Given the description of an element on the screen output the (x, y) to click on. 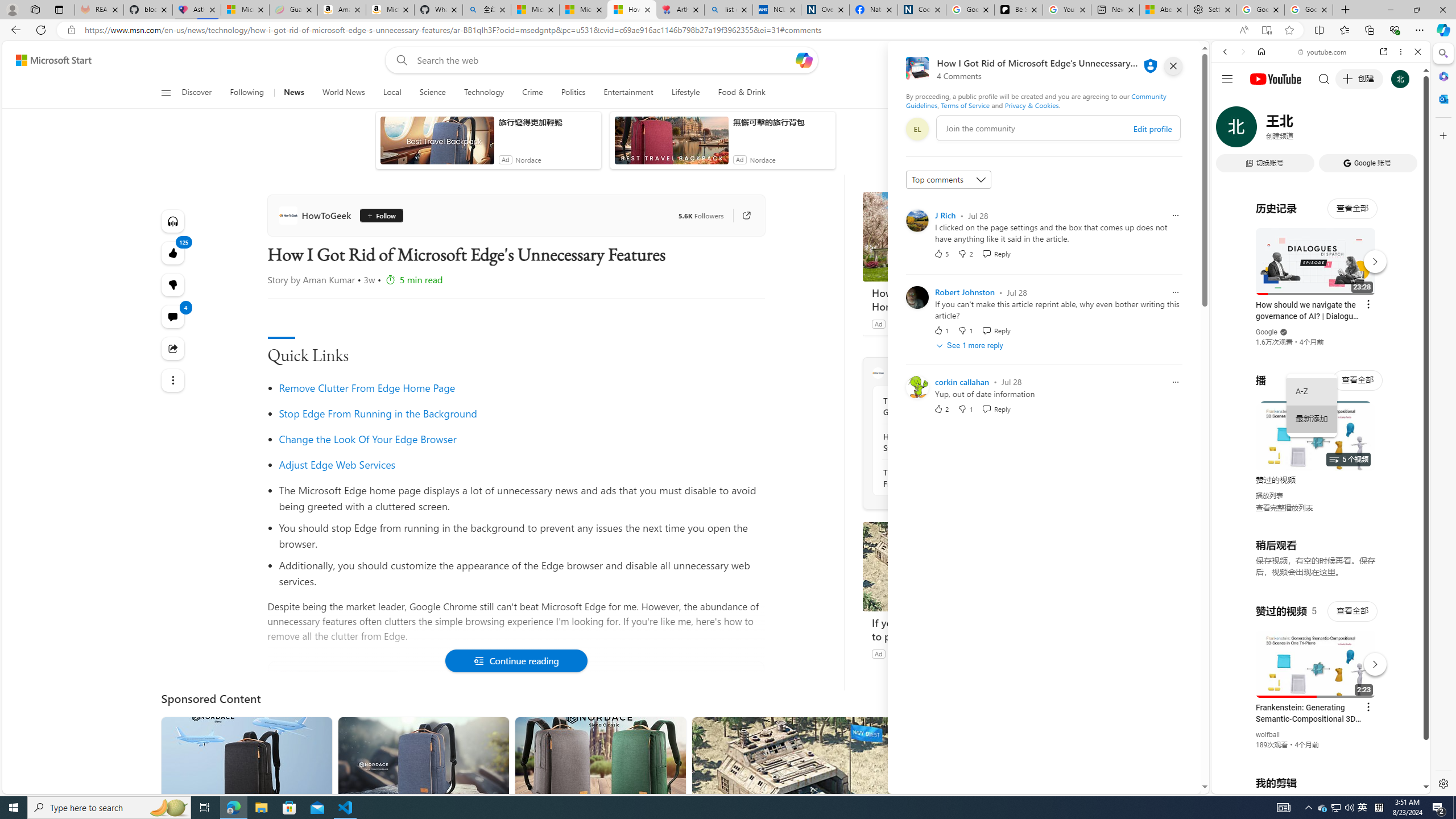
Food & Drink (737, 92)
Search Filter, IMAGES (1262, 129)
Follow (379, 215)
Search Filter, Search Tools (1350, 129)
Remove Clutter From Edge Home Page (366, 387)
A-Z (1311, 391)
Search the web (1326, 78)
Adjust Edge Web Services (521, 464)
Web scope (1230, 102)
